Given the description of an element on the screen output the (x, y) to click on. 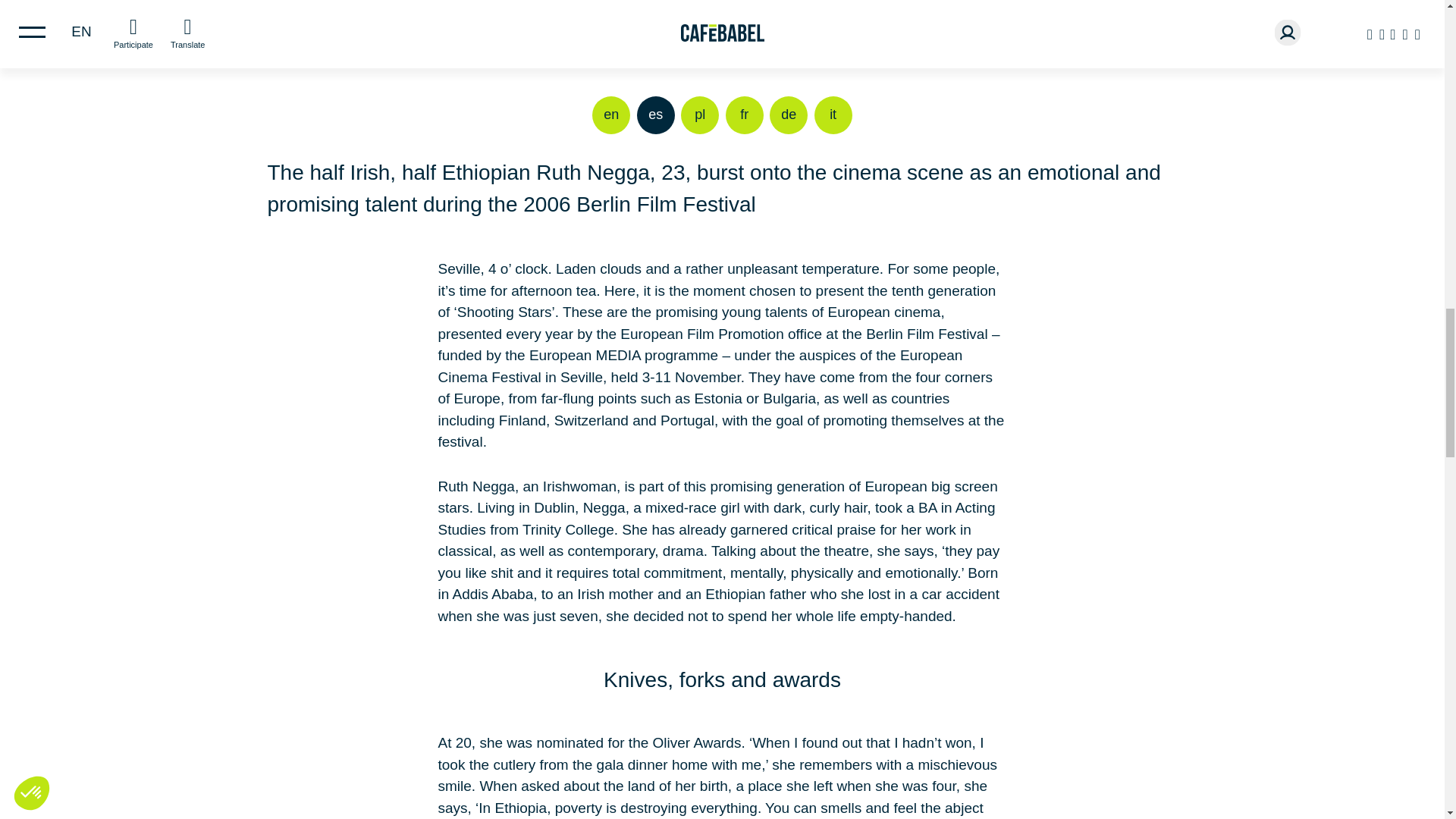
Original language (656, 115)
